Given the description of an element on the screen output the (x, y) to click on. 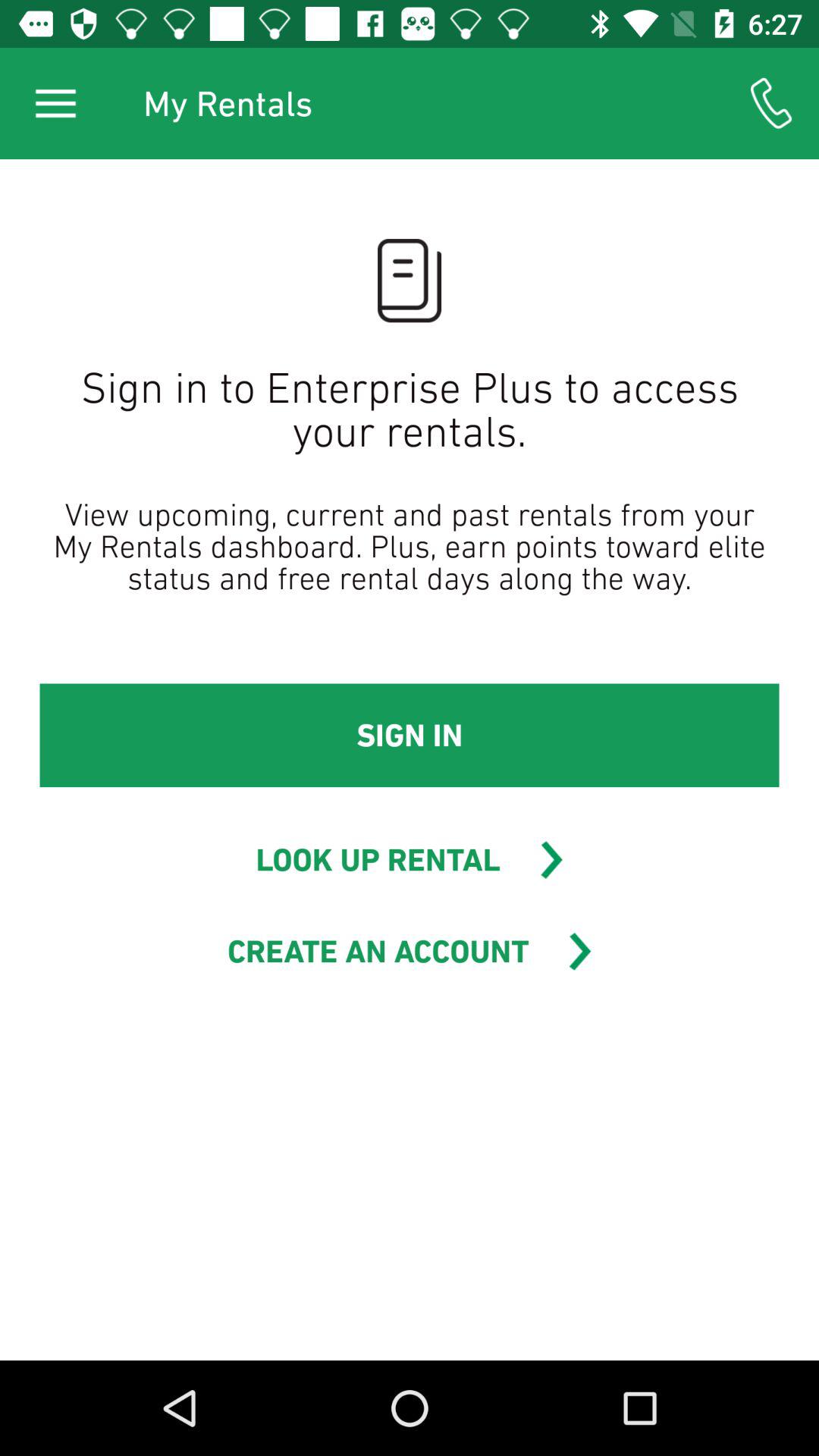
turn off item above the create an account icon (377, 859)
